Given the description of an element on the screen output the (x, y) to click on. 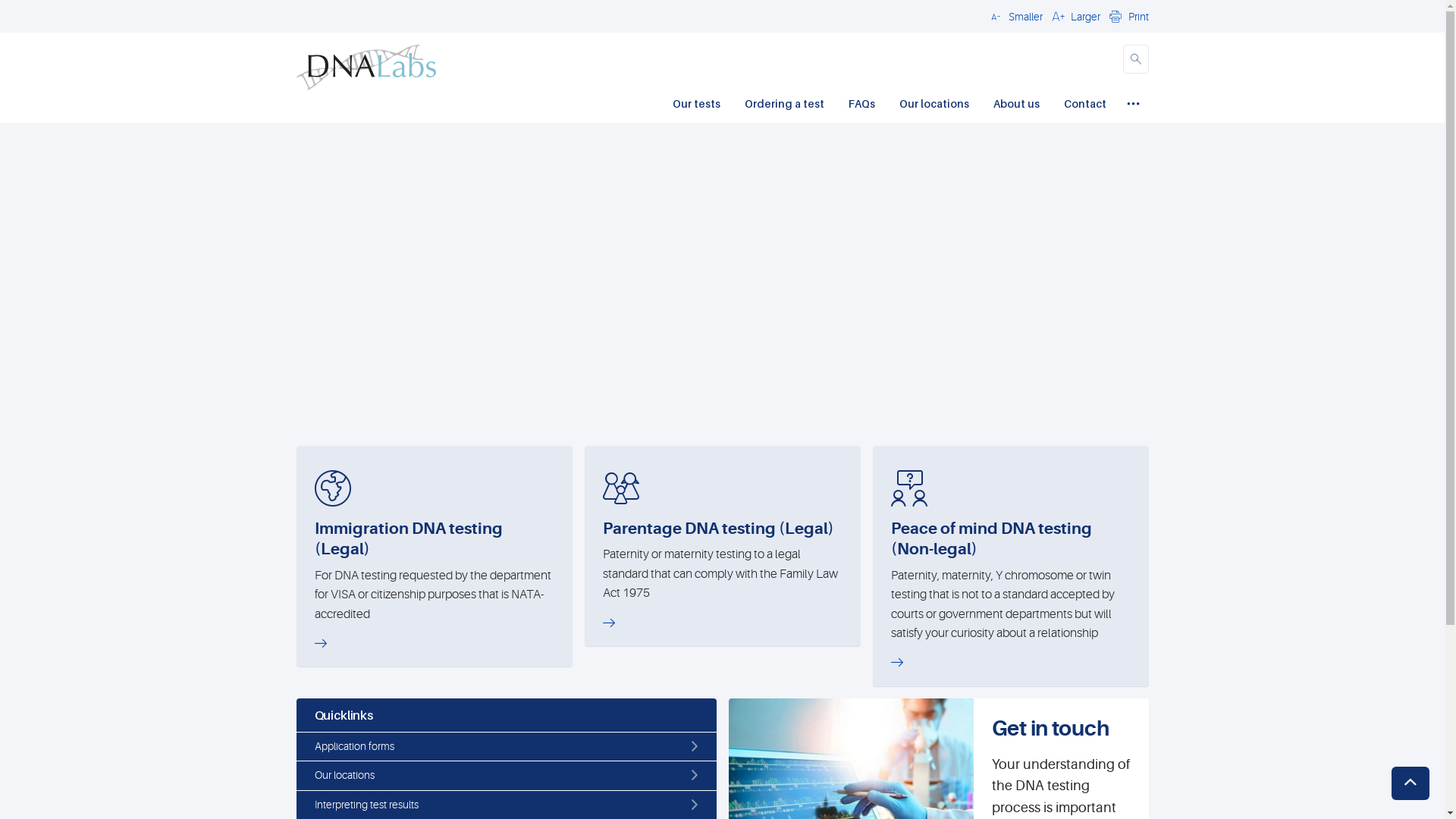
Our locations Element type: text (505, 775)
Application forms Element type: text (505, 746)
Print Element type: text (1126, 15)
Ordering a test Element type: text (784, 105)
About us Element type: text (1016, 105)
Larger Element type: text (1073, 15)
FAQs Element type: text (860, 105)
Smaller Element type: text (1013, 15)
Our tests Element type: text (695, 105)
Our locations Element type: text (934, 105)
Contact Element type: text (1084, 105)
